Given the description of an element on the screen output the (x, y) to click on. 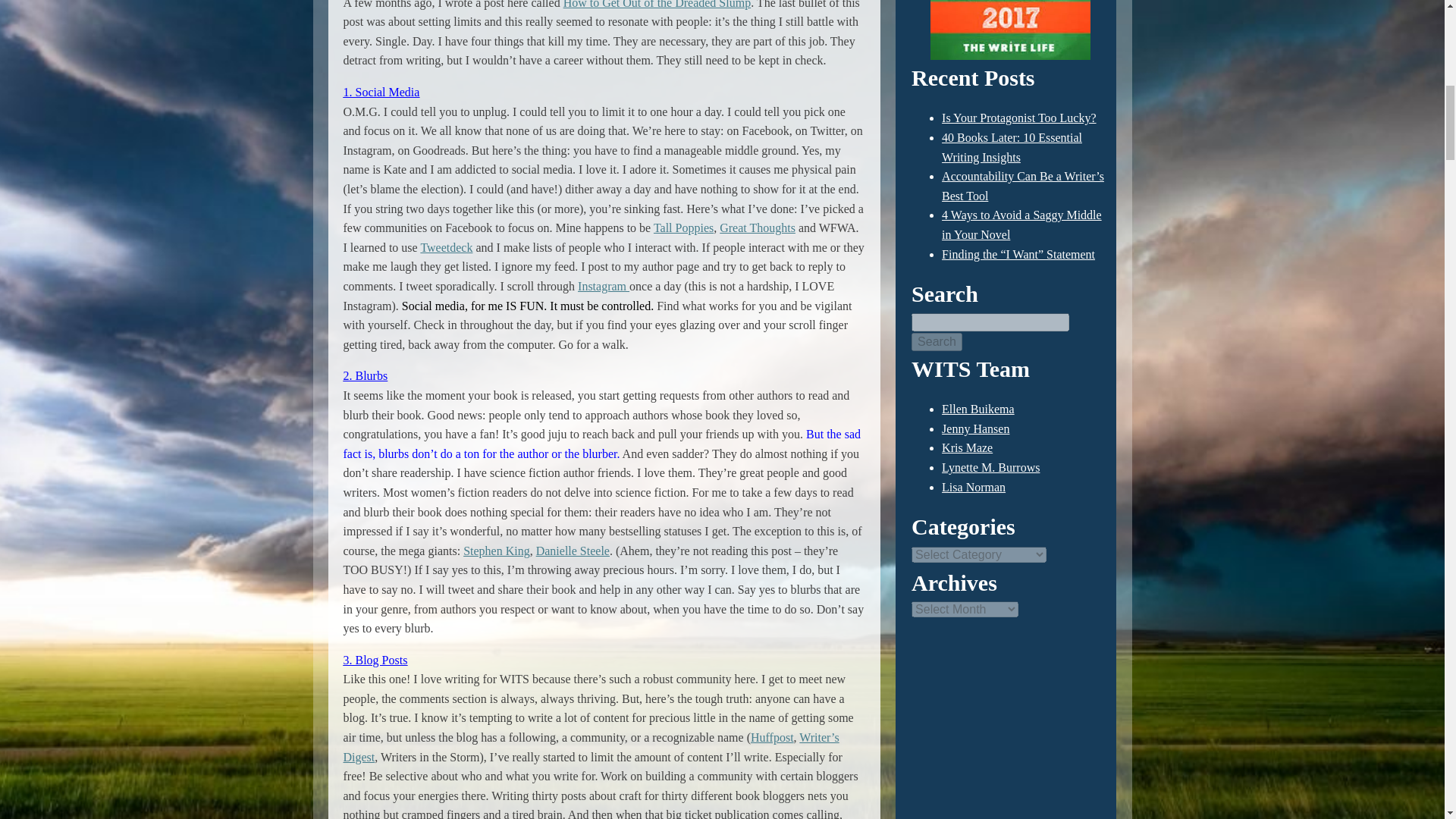
Search (936, 341)
Danielle Steele (572, 550)
Great Thoughts (756, 227)
How to Get Out of the Dreaded Slump (657, 4)
Tall Poppies (683, 227)
Stephen King (496, 550)
Tweetdeck (445, 246)
Instagram (603, 286)
Huffpost (772, 737)
